Given the description of an element on the screen output the (x, y) to click on. 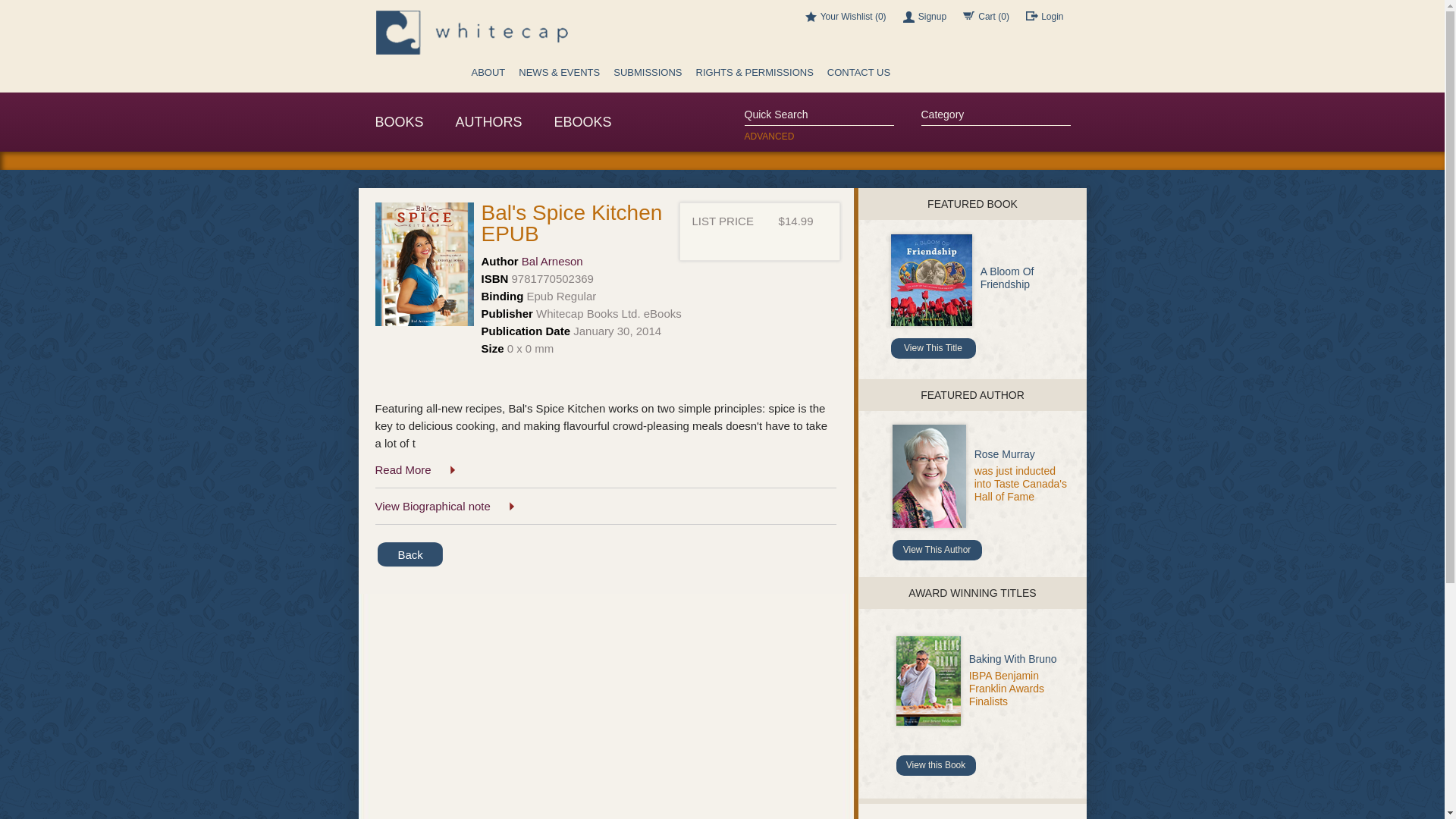
Your Wishlist (845, 16)
Contact Us (858, 75)
CONTACT US (858, 75)
Cart (985, 16)
Login (1044, 16)
ABOUT (488, 75)
SUBMISSIONS (647, 75)
Signup (924, 16)
Signup (924, 16)
Login (1044, 16)
BOOKS (398, 121)
Submissions (647, 75)
About (488, 75)
Books (398, 121)
